Given the description of an element on the screen output the (x, y) to click on. 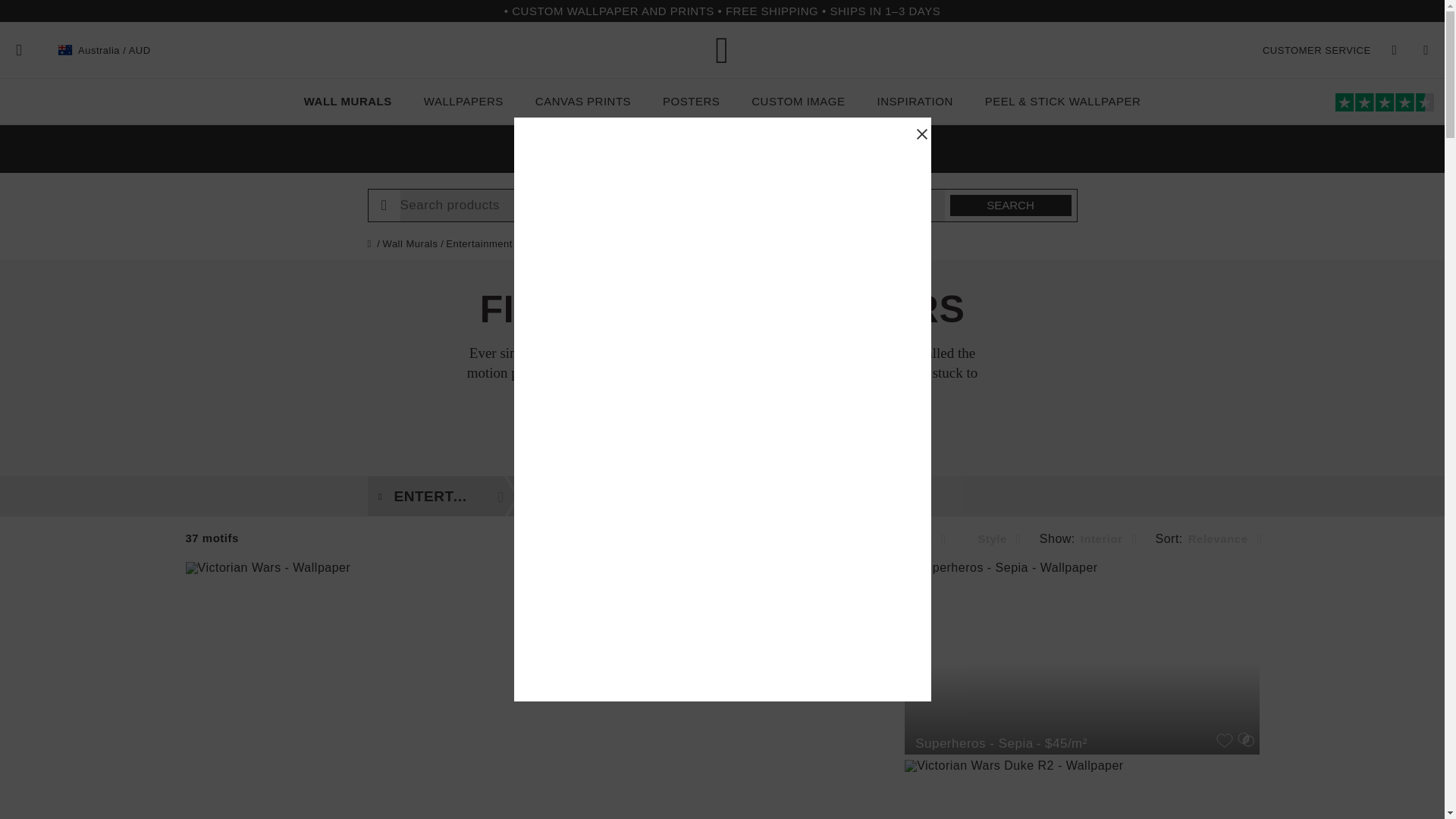
Entertainment (448, 495)
Film And Tv (590, 495)
Open site selector (104, 49)
Fictional Characters (761, 495)
Customer reviews powered by Trustpilot (721, 538)
